Given the description of an element on the screen output the (x, y) to click on. 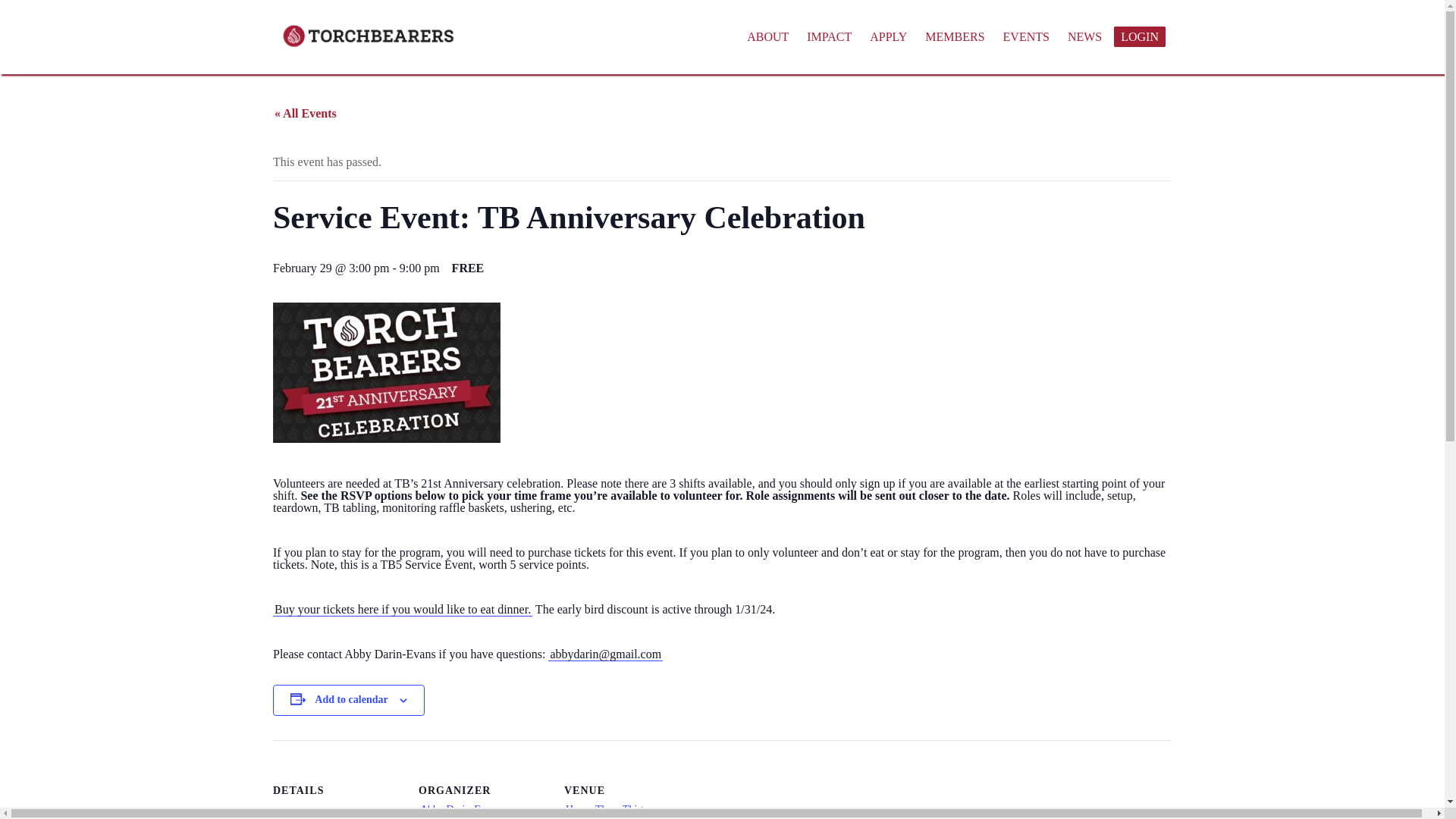
House Three Thirty (607, 808)
LOGIN (1139, 36)
Buy your tickets here if you would like to eat dinner. (402, 609)
Add to calendar (350, 699)
MEMBERS (954, 36)
ABOUT (767, 36)
EVENTS (1026, 36)
IMPACT (828, 36)
Abby Darin-Evans (459, 808)
APPLY (887, 36)
Abby Darin-Evans (459, 808)
NEWS (1084, 36)
